Given the description of an element on the screen output the (x, y) to click on. 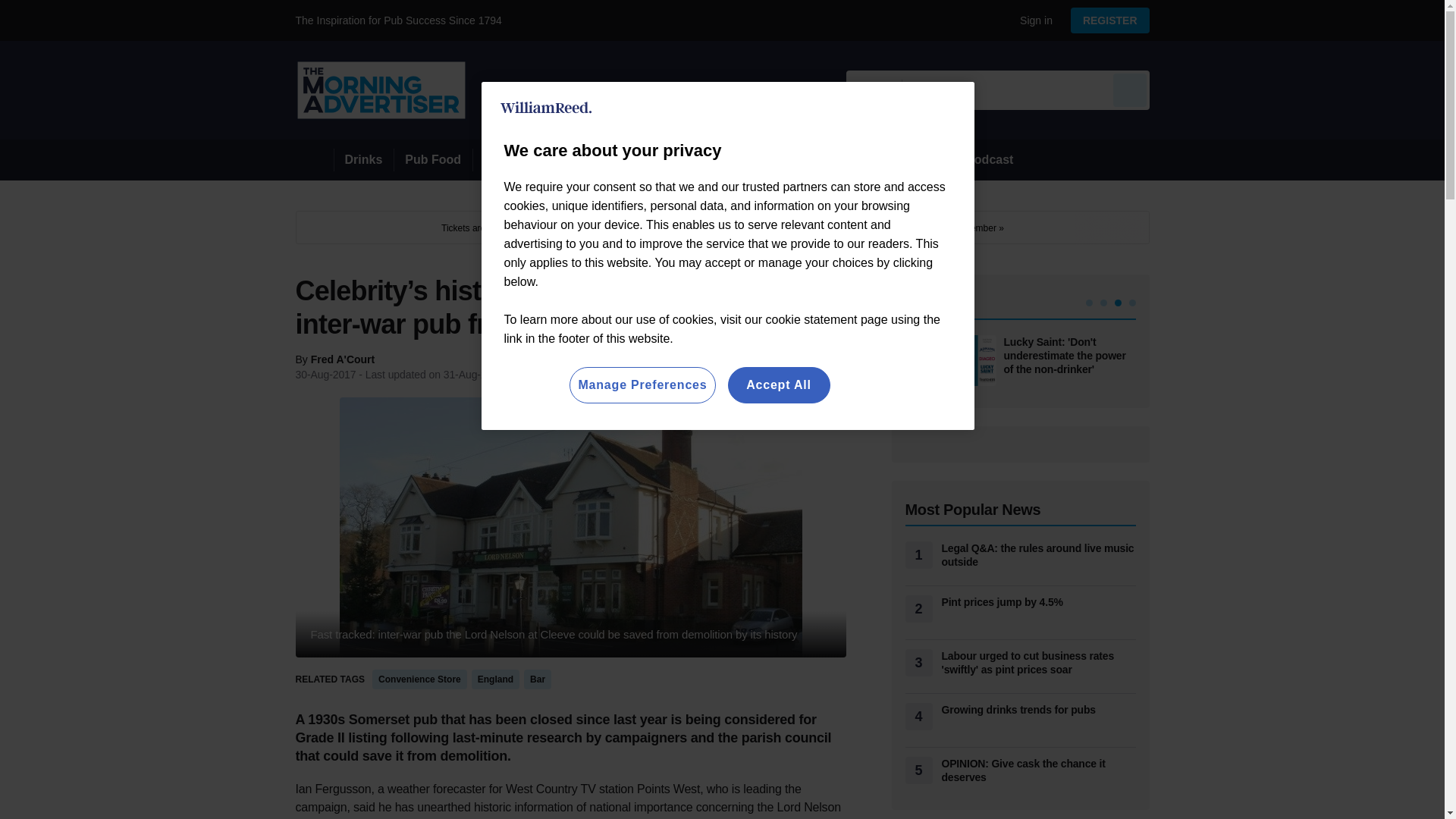
Home (313, 159)
Sign in (1029, 20)
The Morning Advertiser (381, 89)
Sign out (1032, 20)
Home (314, 159)
REGISTER (1110, 20)
Drinks (363, 159)
William Reed (545, 107)
My account (1114, 20)
Legal (499, 159)
Send (1129, 89)
Send (1129, 90)
Pub Food (432, 159)
3rd party ad content (722, 227)
